Given the description of an element on the screen output the (x, y) to click on. 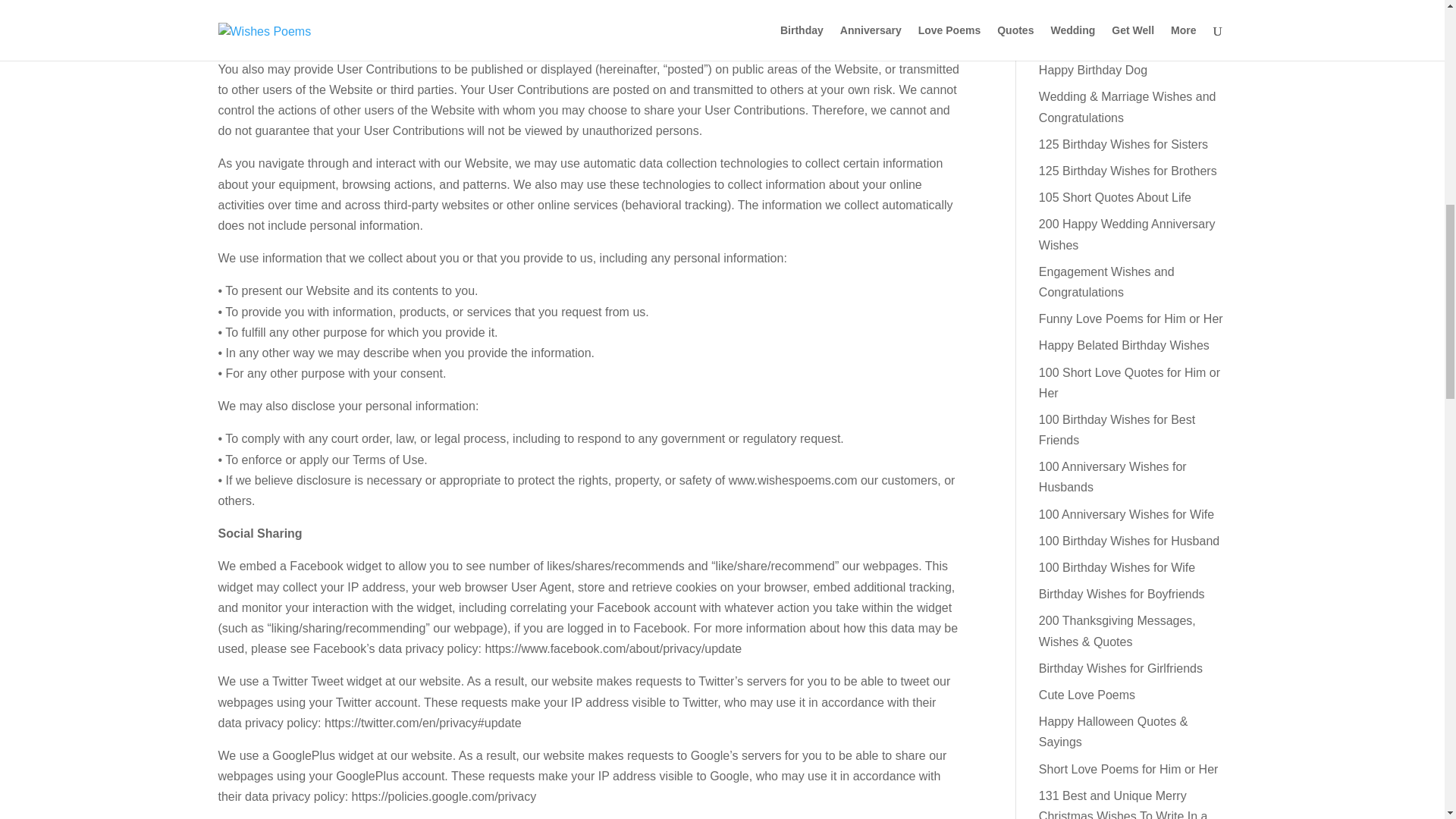
100 Anniversary Wishes for Wife (1126, 513)
Cute Love Poems (1087, 694)
Engagement Wishes and Congratulations (1106, 281)
Love Poems for Her (1093, 16)
100 Short Love Quotes for Him or Her (1129, 381)
105 Short Quotes About Life (1115, 196)
Short Love Poems for Him or Her (1128, 768)
100 Birthday Wishes for Best Friends (1117, 429)
100 Birthday Wishes for Husband (1129, 540)
Funny Love Poems for Him or Her (1131, 318)
100 Birthday Wishes for Wife (1117, 567)
200 Happy Wedding Anniversary Wishes (1127, 233)
Happy Birthday Dog (1093, 69)
Birthday Wishes for Boyfriends (1122, 594)
Birthday Wishes for Girlfriends (1120, 667)
